Given the description of an element on the screen output the (x, y) to click on. 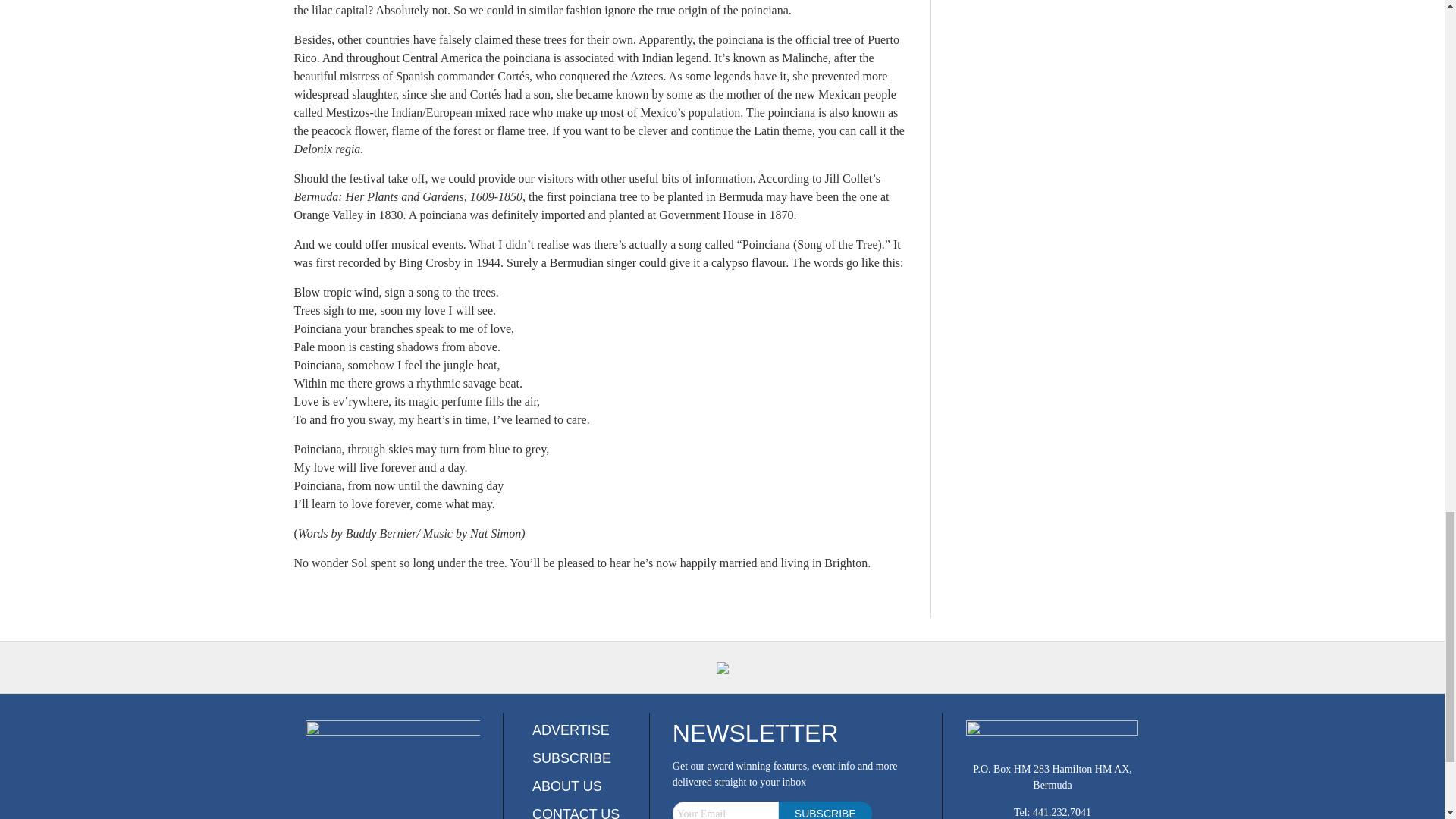
ABOUT US (567, 785)
SUBSCRIBE (571, 758)
ADVERTISE (571, 729)
